Given the description of an element on the screen output the (x, y) to click on. 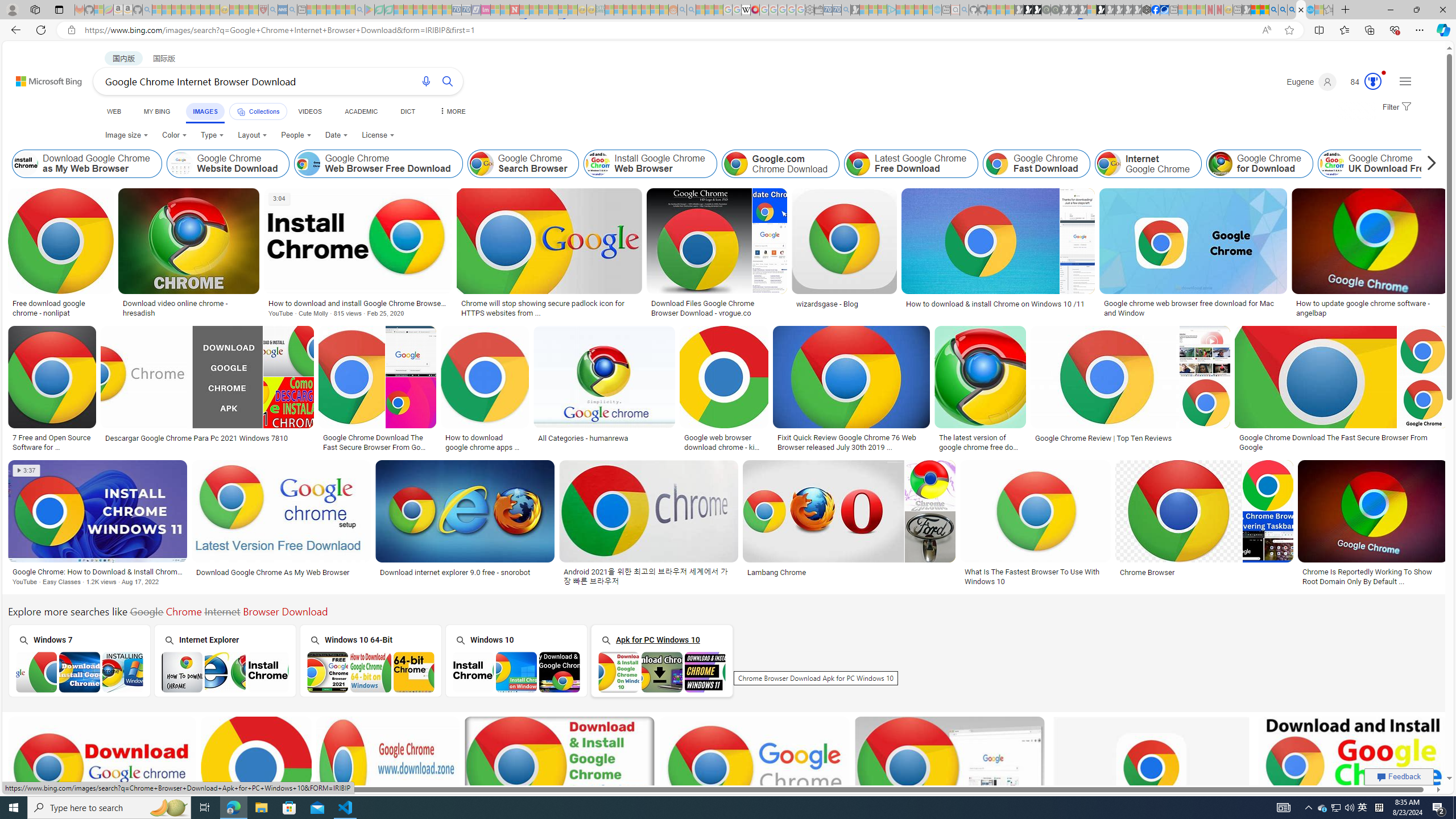
Latest Google Chrome Free Download (911, 163)
MediaWiki (754, 9)
New tab - Sleeping (1236, 9)
Layout (252, 135)
Google Chrome UK Download Free (1379, 163)
Free download google chrome - nonlipat (61, 307)
Cheap Car Rentals - Save70.com - Sleeping (836, 9)
2009 Bing officially replaced Live Search on June 3 - Search (1283, 9)
